Given the description of an element on the screen output the (x, y) to click on. 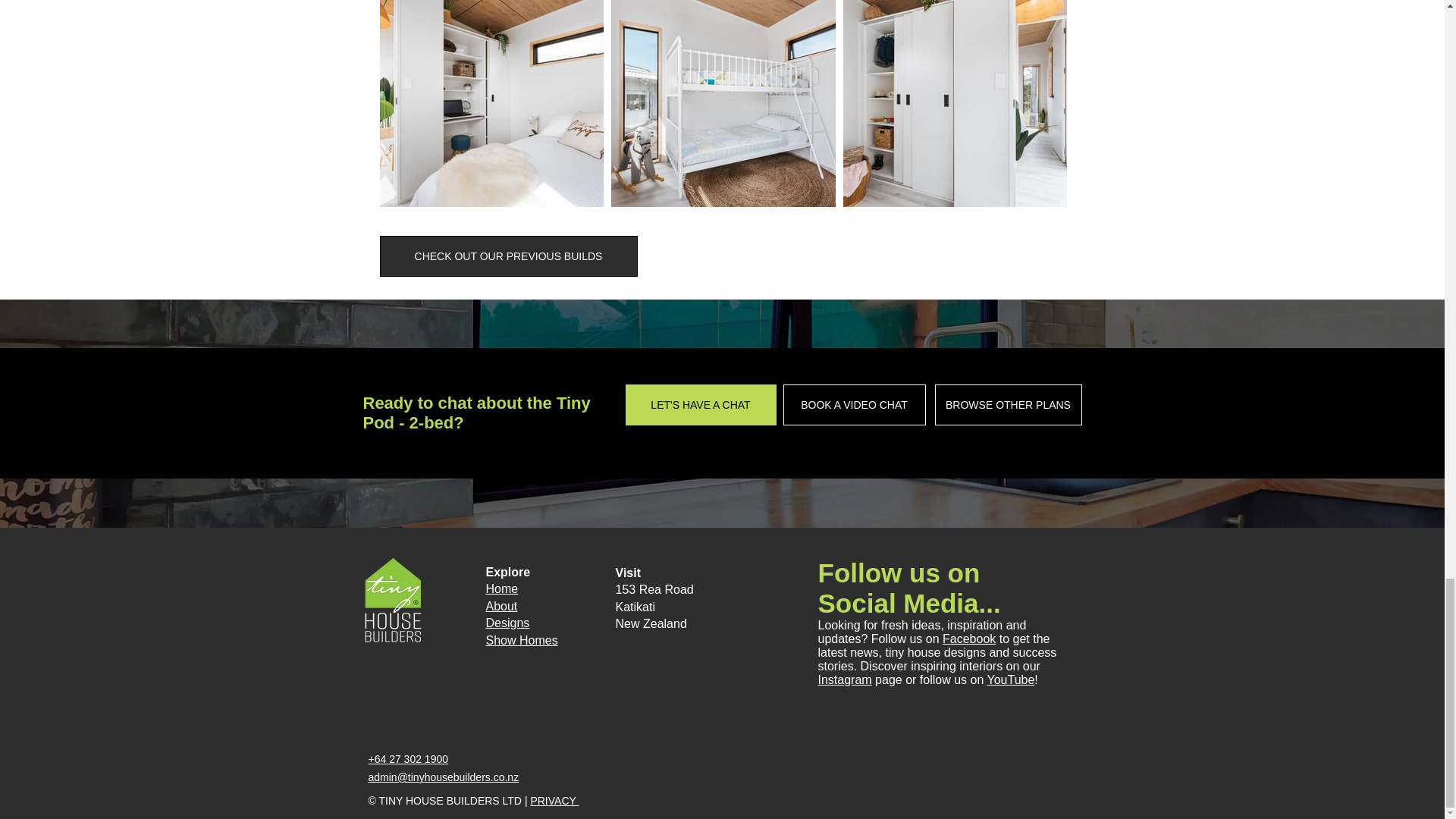
BROWSE OTHER PLANS (1007, 404)
CHECK OUT OUR PREVIOUS BUILDS (507, 255)
LET'S HAVE A CHAT (700, 404)
BOOK A VIDEO CHAT (853, 404)
